Given the description of an element on the screen output the (x, y) to click on. 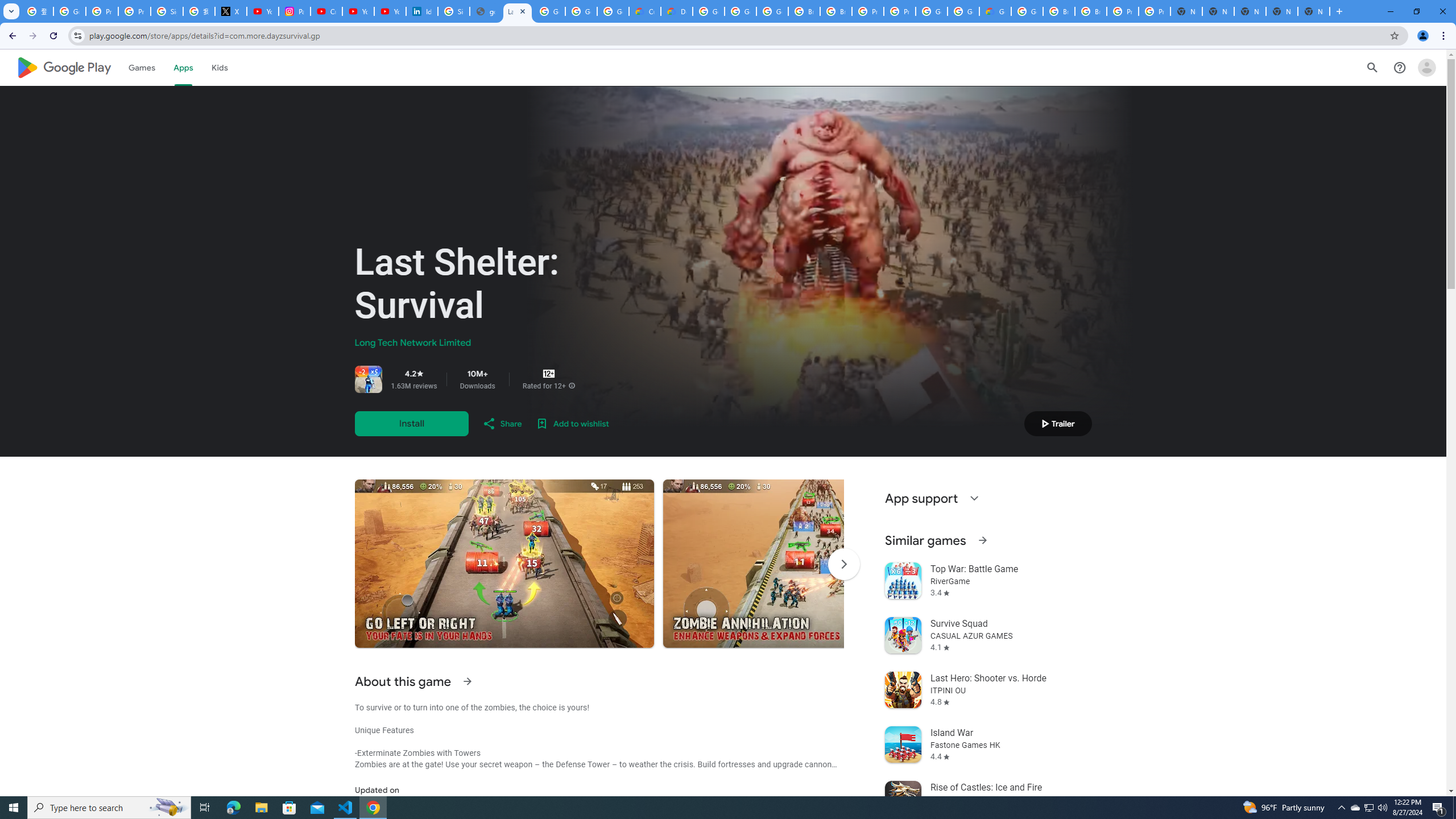
Apps (182, 67)
Privacy Help Center - Policies Help (134, 11)
Browse Chrome as a guest - Computer - Google Chrome Help (1059, 11)
Browse Chrome as a guest - Computer - Google Chrome Help (804, 11)
Install (410, 423)
Google Cloud Estimate Summary (995, 11)
New Tab (1313, 11)
